Given the description of an element on the screen output the (x, y) to click on. 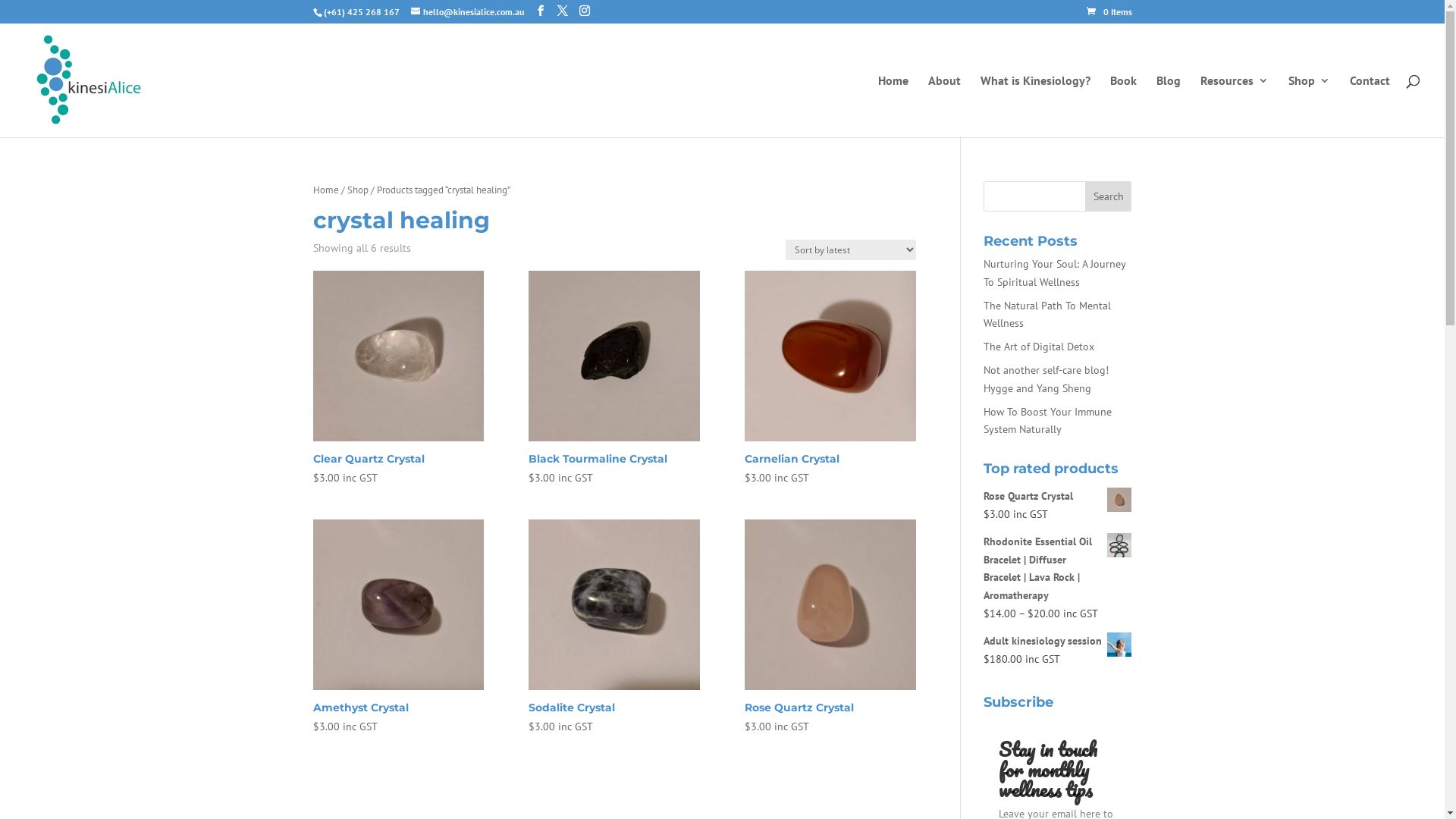
Home Element type: text (893, 106)
Rose Quartz Crystal
$3.00 inc GST Element type: text (829, 627)
Carnelian Crystal
$3.00 inc GST Element type: text (829, 378)
What is Kinesiology? Element type: text (1035, 106)
The Art of Digital Detox Element type: text (1038, 346)
Shop Element type: text (357, 189)
Contact Element type: text (1369, 106)
Resources Element type: text (1234, 106)
hello@kinesialice.com.au Element type: text (467, 11)
Rose Quartz Crystal Element type: text (1057, 496)
(+61) 425 268 167 Element type: text (360, 11)
Nurturing Your Soul: A Journey To Spiritual Wellness Element type: text (1054, 272)
Adult kinesiology session Element type: text (1057, 641)
The Natural Path To Mental Wellness Element type: text (1046, 314)
0 Items Element type: text (1108, 11)
Book Element type: text (1123, 106)
How To Boost Your Immune System Naturally Element type: text (1047, 420)
Not another self-care blog! Hygge and Yang Sheng Element type: text (1045, 379)
Black Tourmaline Crystal
$3.00 inc GST Element type: text (613, 378)
Shop Element type: text (1309, 106)
Blog Element type: text (1168, 106)
Search Element type: text (1108, 196)
Sodalite Crystal
$3.00 inc GST Element type: text (613, 627)
Clear Quartz Crystal
$3.00 inc GST Element type: text (397, 378)
About Element type: text (944, 106)
Amethyst Crystal
$3.00 inc GST Element type: text (397, 627)
Home Element type: text (325, 189)
